Given the description of an element on the screen output the (x, y) to click on. 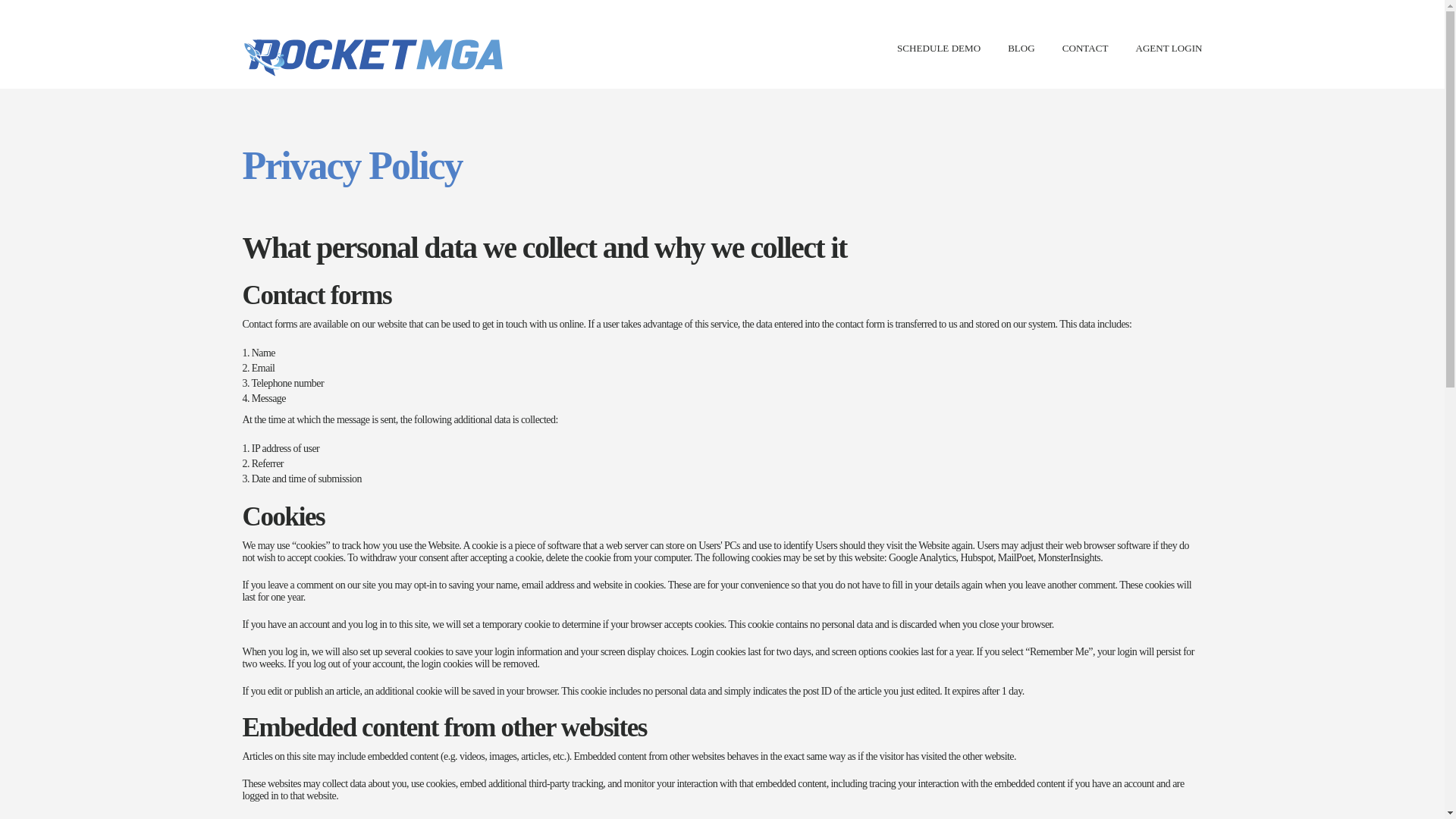
CONTACT (1085, 48)
BLOG (1021, 48)
AGENT LOGIN (1168, 48)
SCHEDULE DEMO (937, 48)
